Given the description of an element on the screen output the (x, y) to click on. 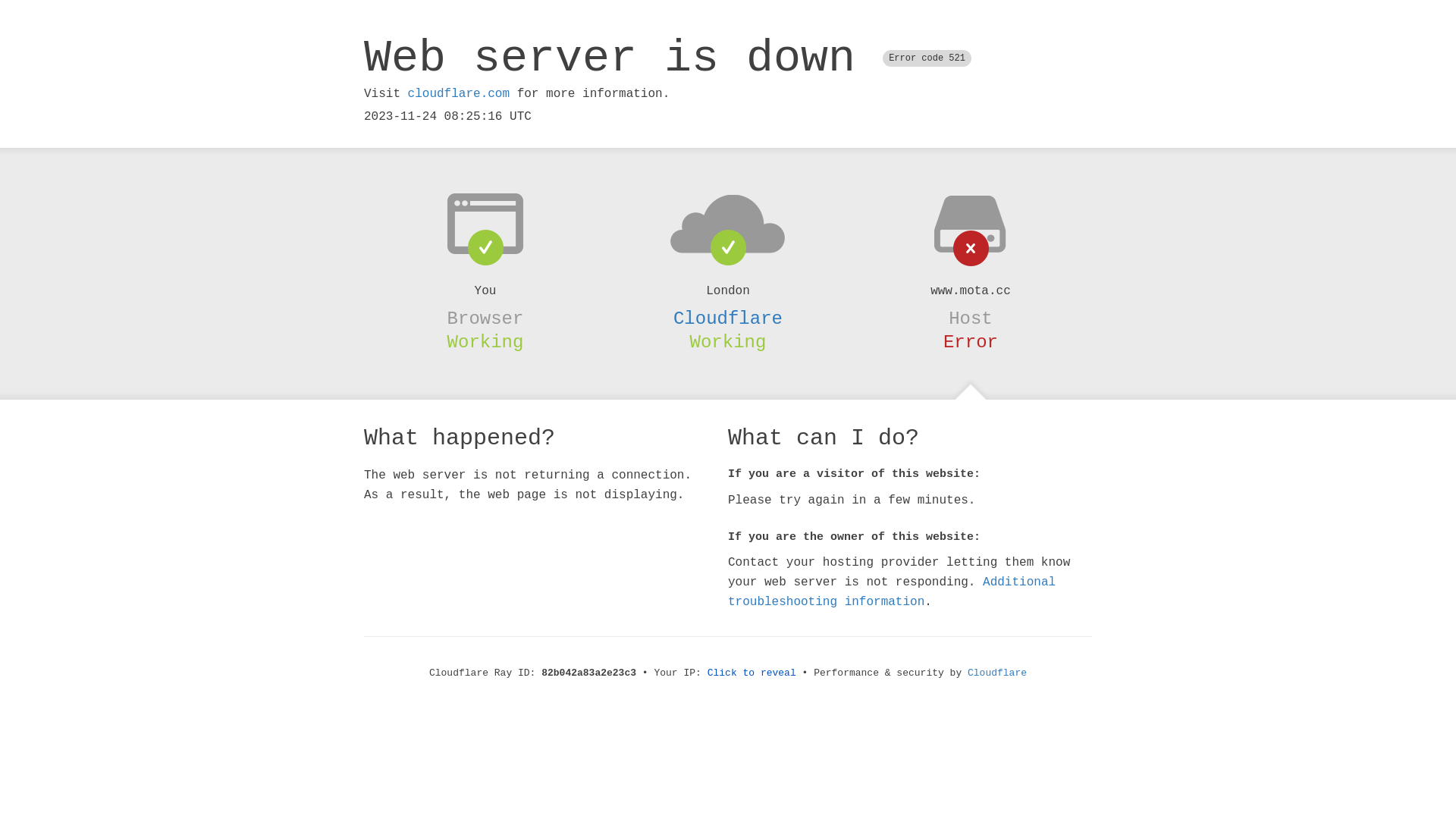
Cloudflare Element type: text (727, 318)
Cloudflare Element type: text (996, 672)
cloudflare.com Element type: text (458, 93)
Additional troubleshooting information Element type: text (891, 591)
Click to reveal Element type: text (751, 672)
